Given the description of an element on the screen output the (x, y) to click on. 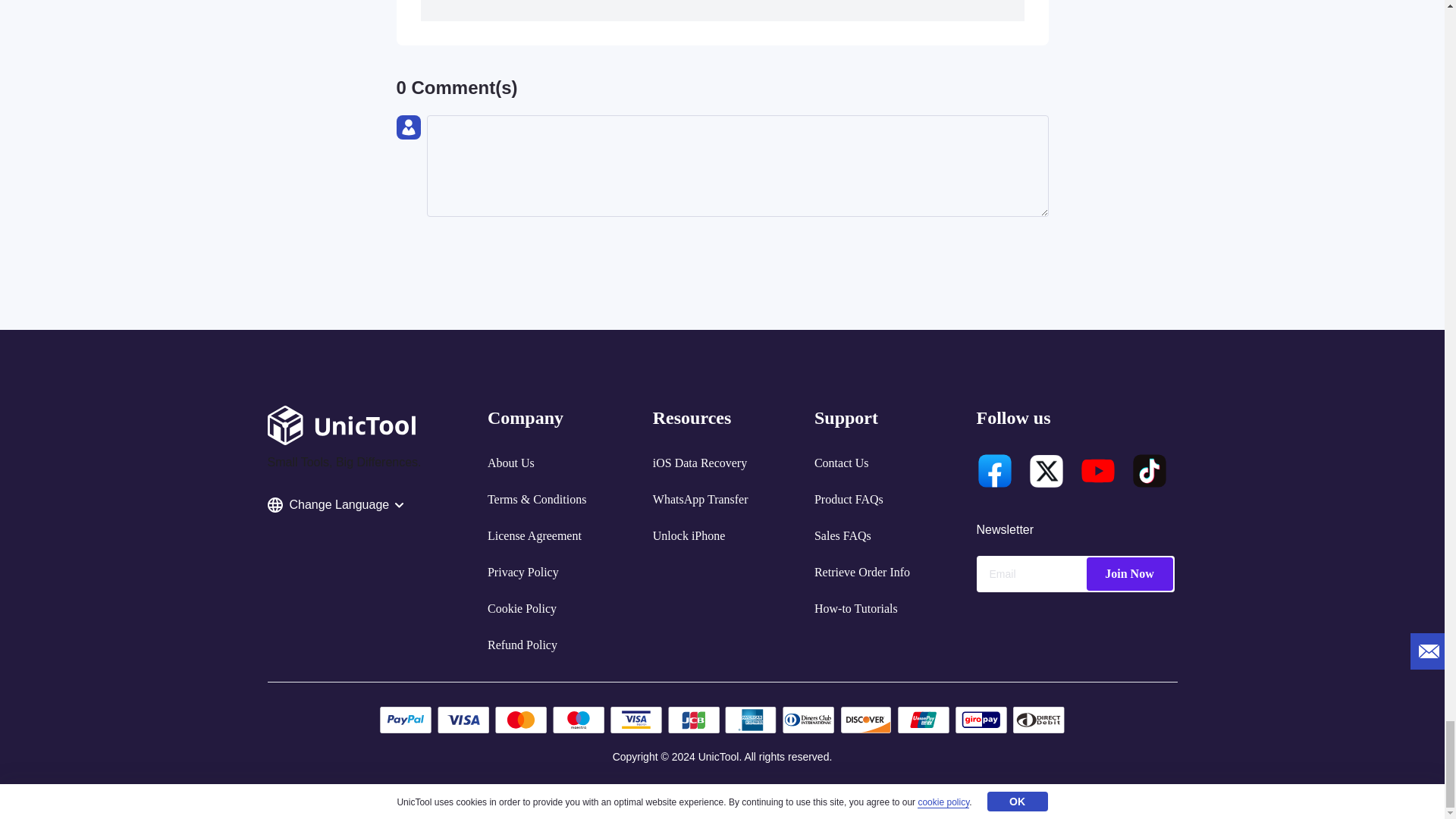
twitter (1045, 470)
facebook (994, 470)
tiktok (1149, 470)
youtube (1098, 470)
